Given the description of an element on the screen output the (x, y) to click on. 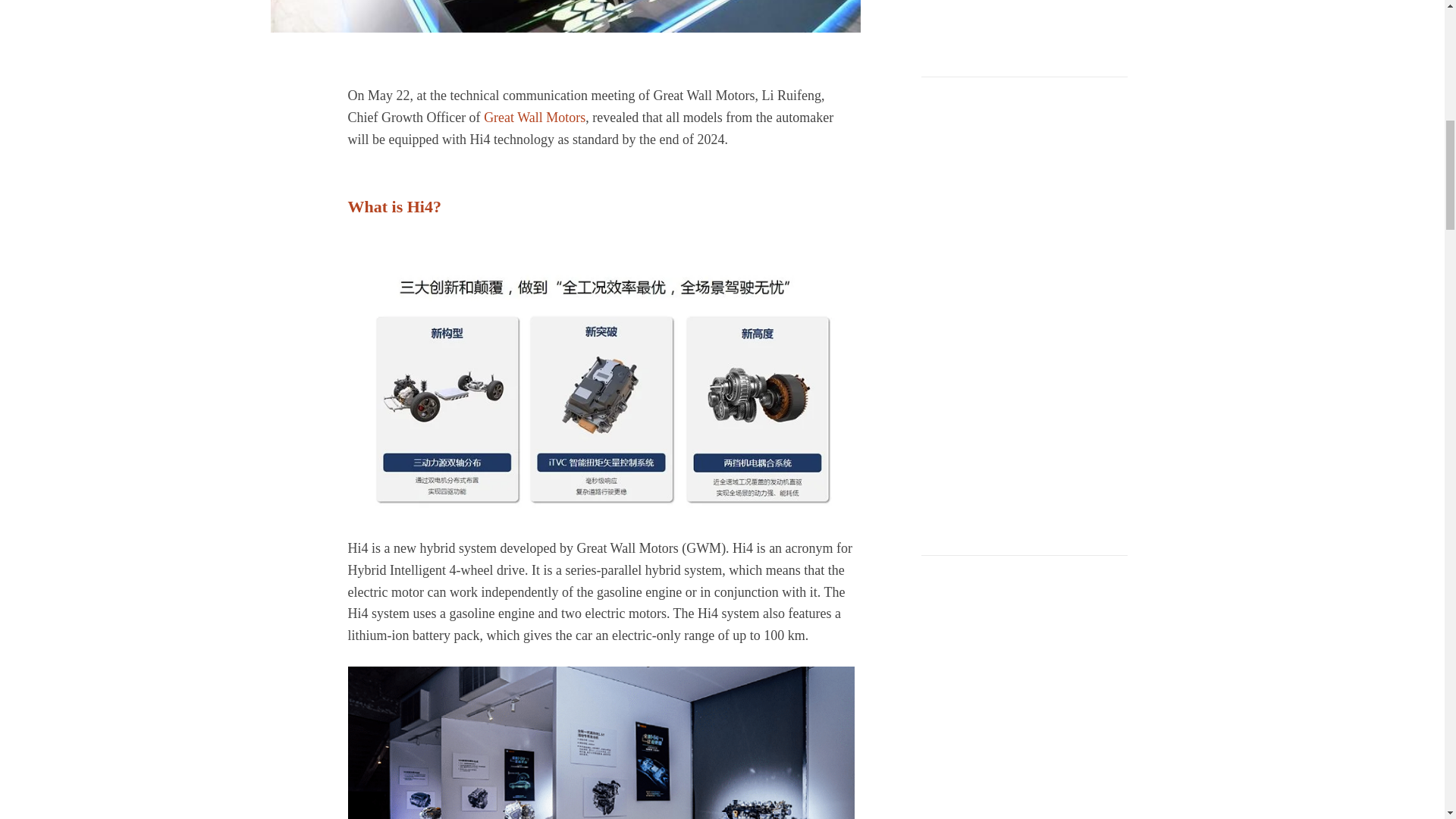
Hi4 (564, 16)
